Given the description of an element on the screen output the (x, y) to click on. 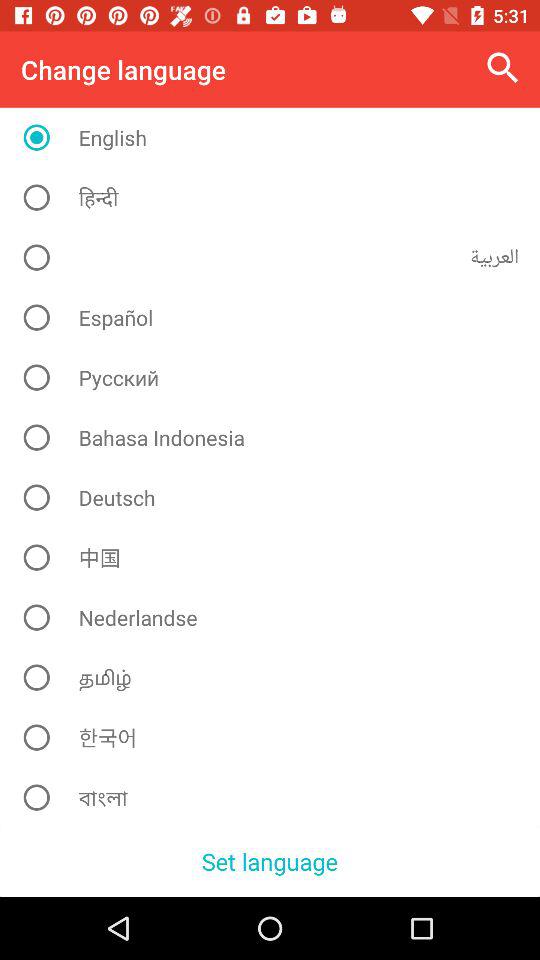
launch nederlandse icon (277, 617)
